Given the description of an element on the screen output the (x, y) to click on. 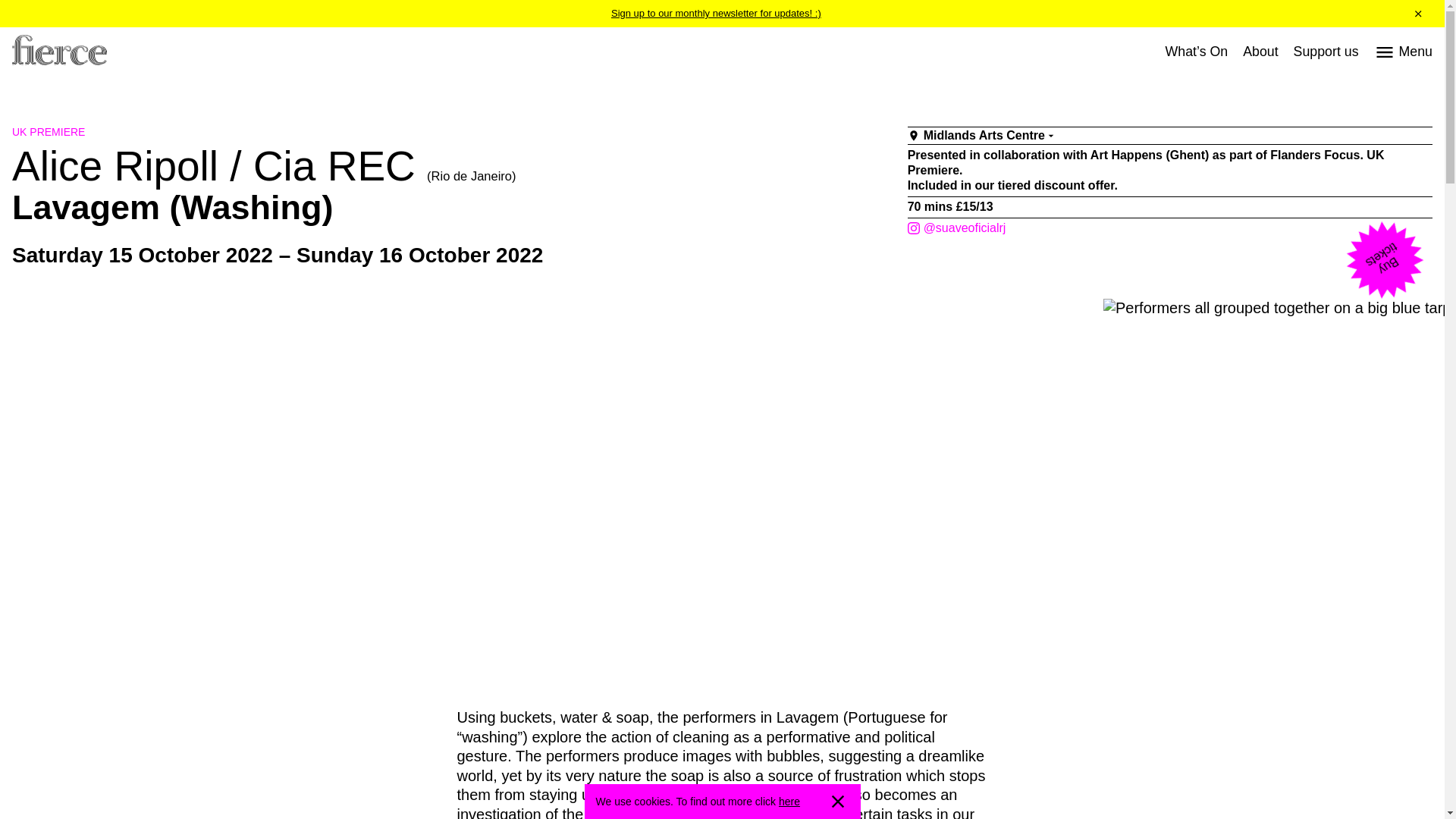
Support us (1326, 52)
Fierce Festival (58, 51)
Menu (1403, 51)
About (1260, 52)
